Given the description of an element on the screen output the (x, y) to click on. 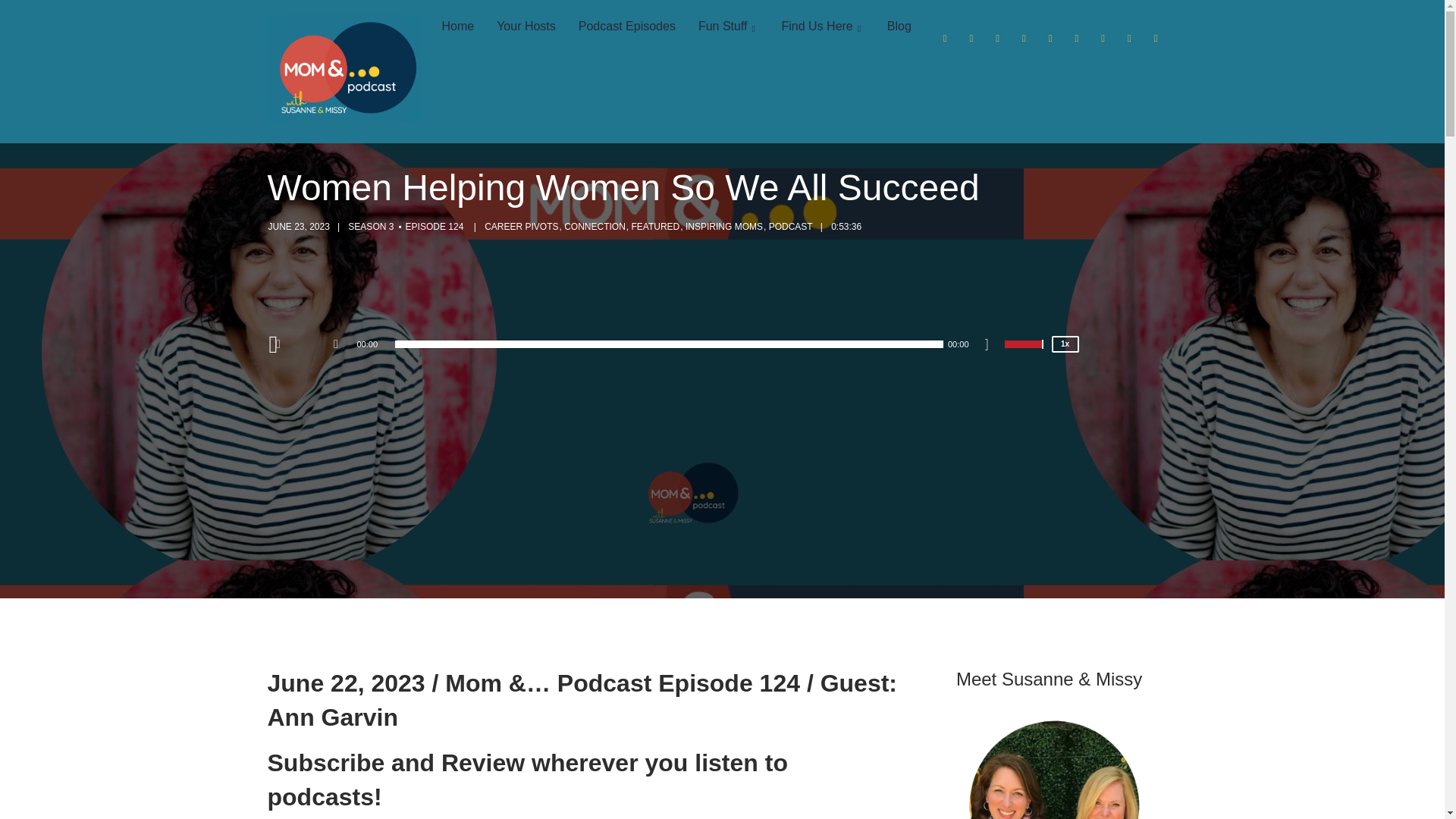
Your Hosts (525, 26)
Home (456, 26)
Mom And Podcast (343, 71)
Find Us Here (823, 26)
Podcast Episodes (627, 26)
Fun Stuff (728, 26)
